Given the description of an element on the screen output the (x, y) to click on. 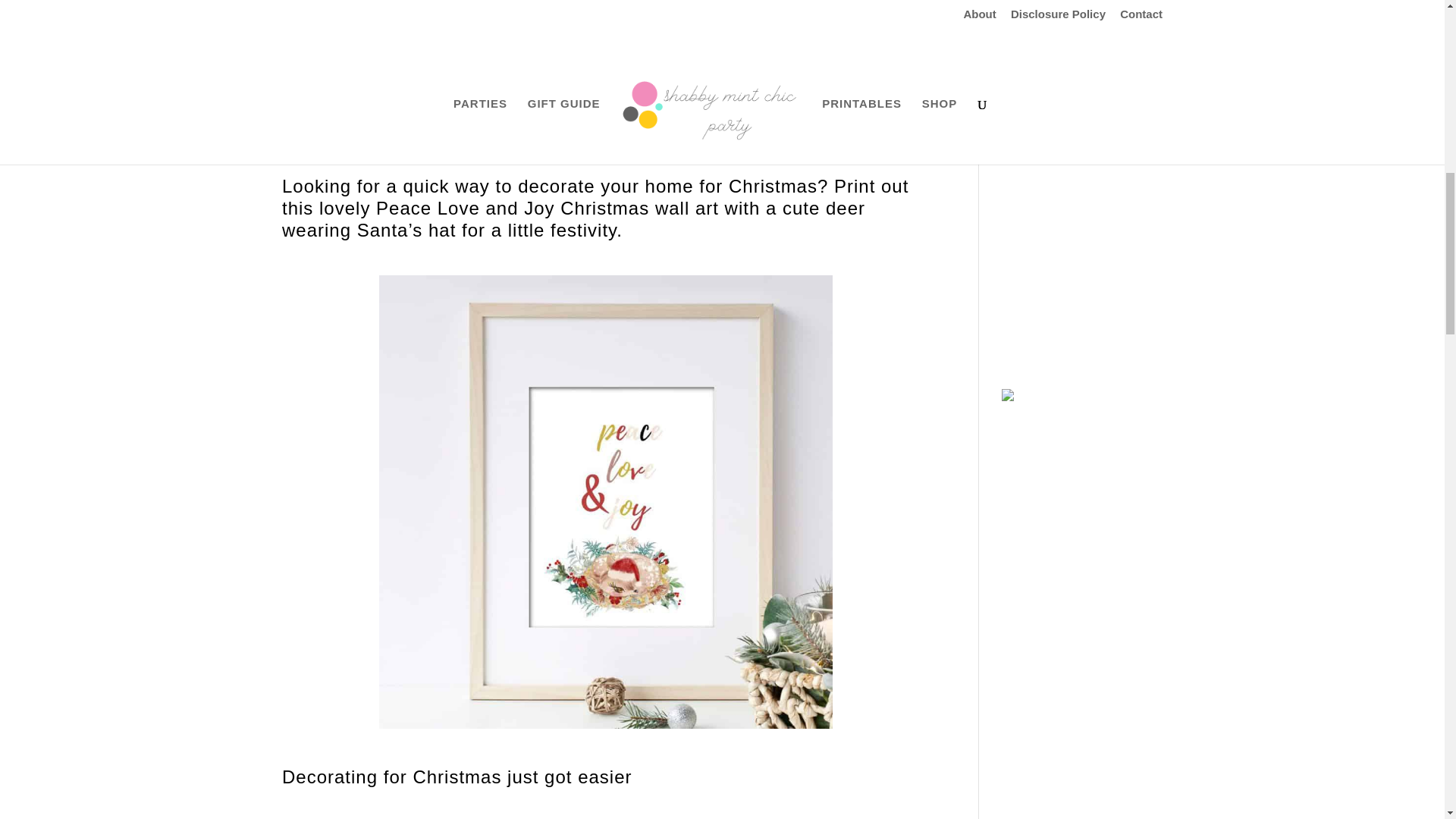
Free Printables (431, 121)
Advertisement (1096, 266)
WALL ART (498, 121)
Ngoc (309, 121)
Posts by Ngoc (309, 121)
